Given the description of an element on the screen output the (x, y) to click on. 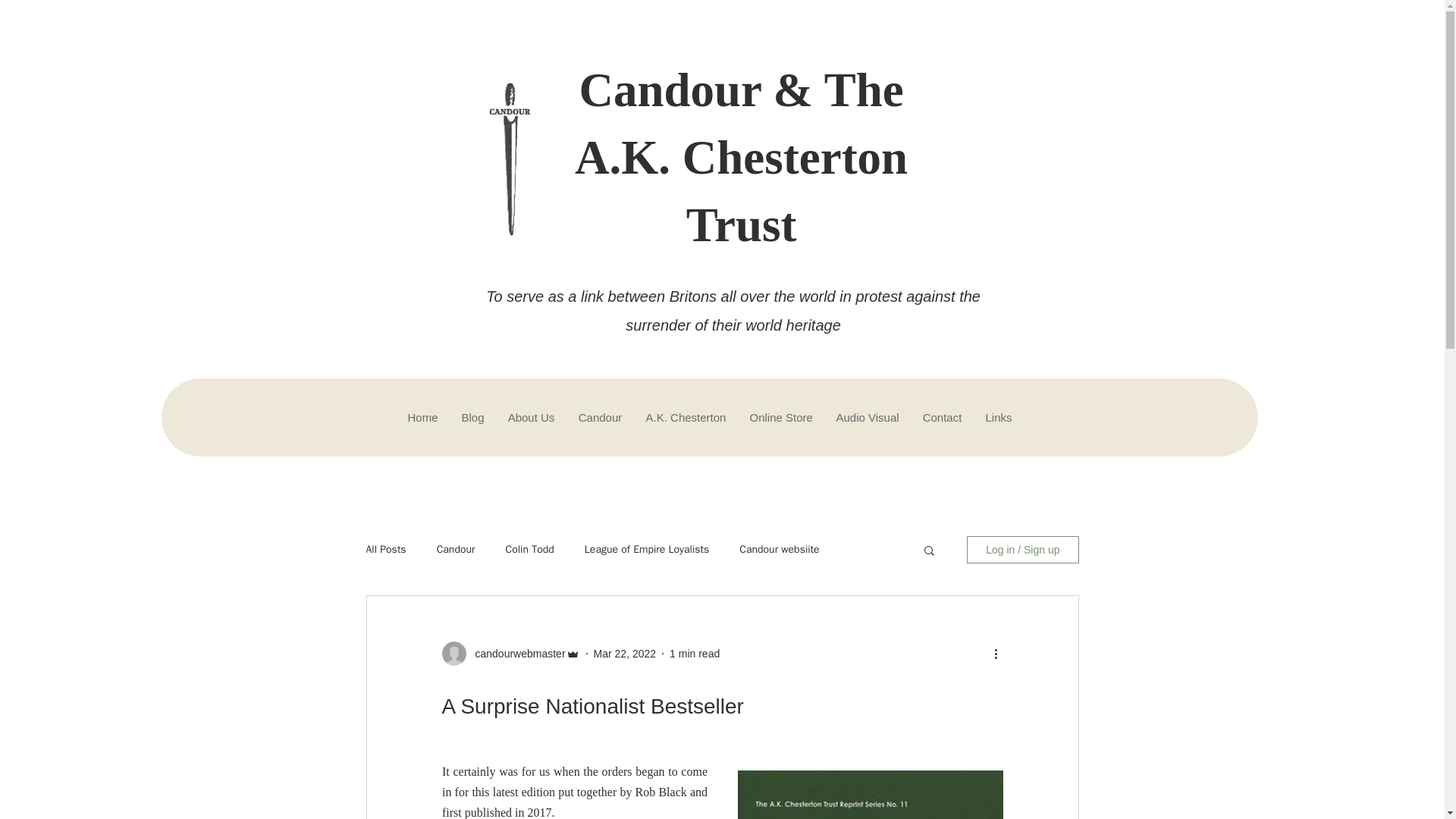
About Us (531, 417)
League of Empire Loyalists (647, 549)
A.K. Chesterton (685, 417)
Audio Visual (867, 417)
All Posts (385, 549)
Candour websiite (778, 549)
candourwebmaster (514, 653)
Mar 22, 2022 (625, 653)
Online Store (780, 417)
Candour (456, 549)
1 min read (694, 653)
Colin Todd (529, 549)
